Given the description of an element on the screen output the (x, y) to click on. 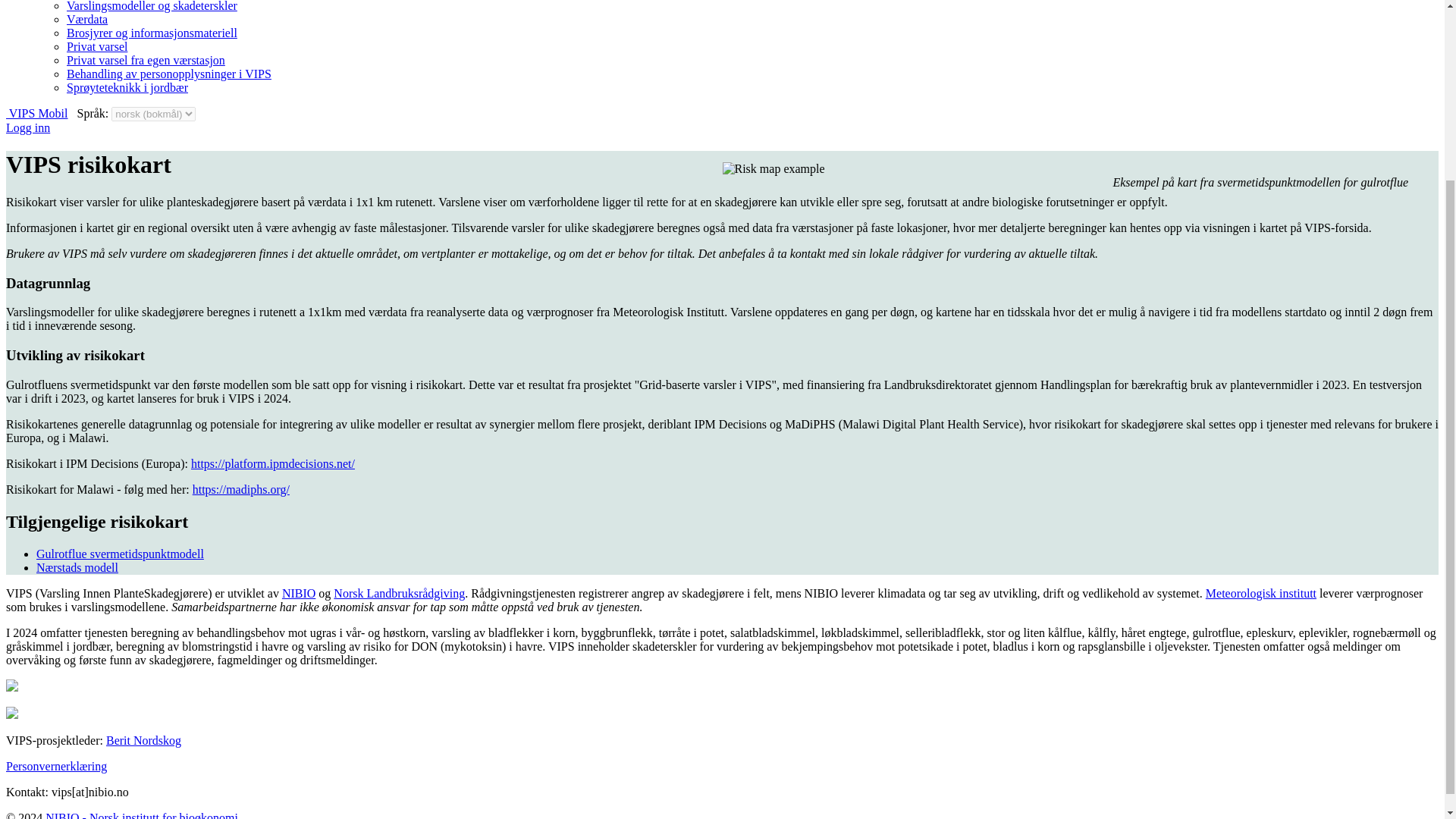
Meteorologisk institutt (1260, 593)
 VIPS Mobil (36, 113)
NIBIO (298, 593)
Varslingsmodeller og skadeterskler (151, 6)
Berit Nordskog (143, 739)
Privat varsel (97, 46)
Brosjyrer og informasjonsmateriell (151, 32)
Behandling av personopplysninger i VIPS (168, 73)
Gulrotflue svermetidspunktmodell (119, 553)
Logg inn (27, 127)
